Given the description of an element on the screen output the (x, y) to click on. 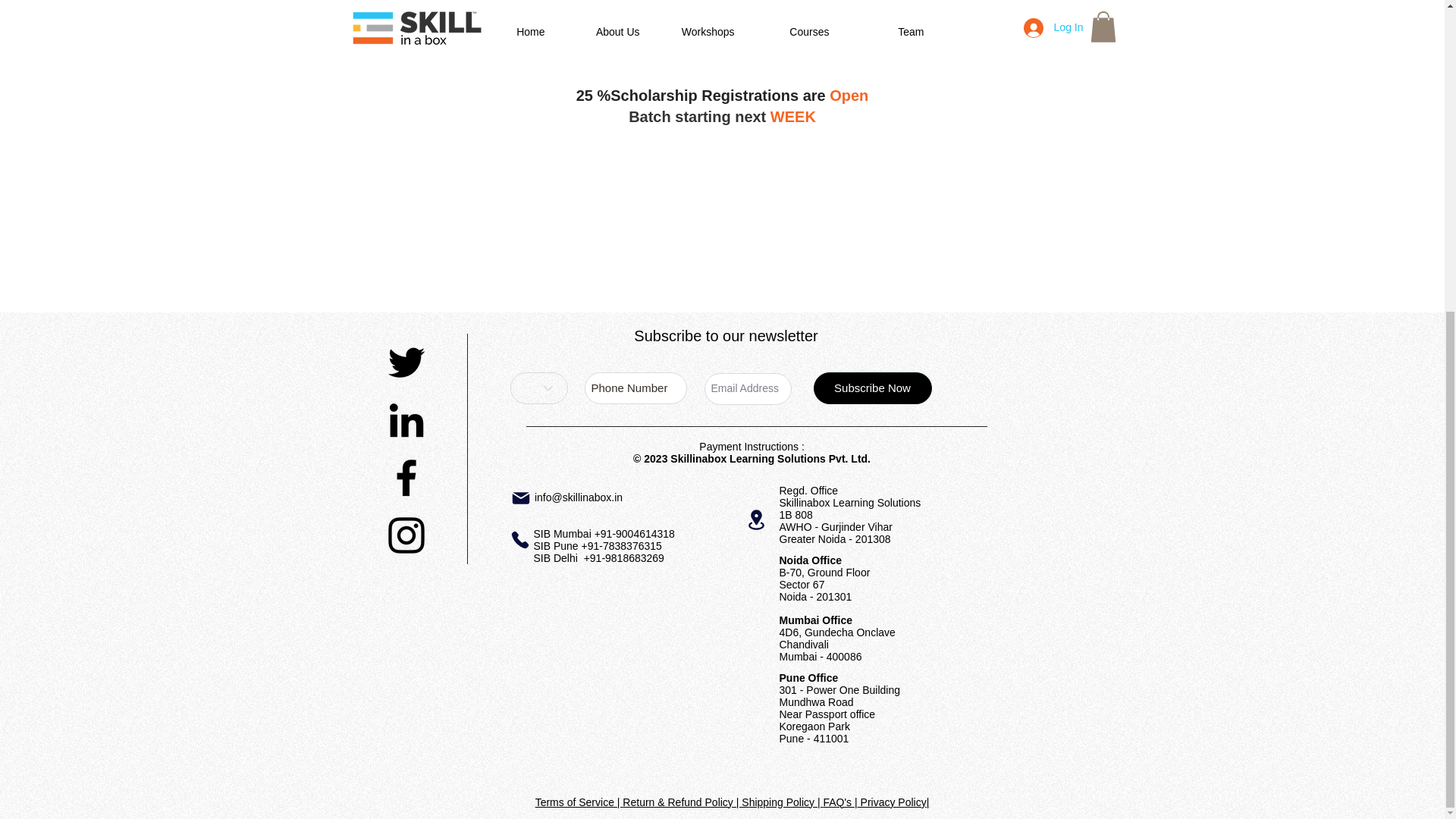
Subscribe Now (871, 388)
Payment Instructions :  (752, 446)
